Given the description of an element on the screen output the (x, y) to click on. 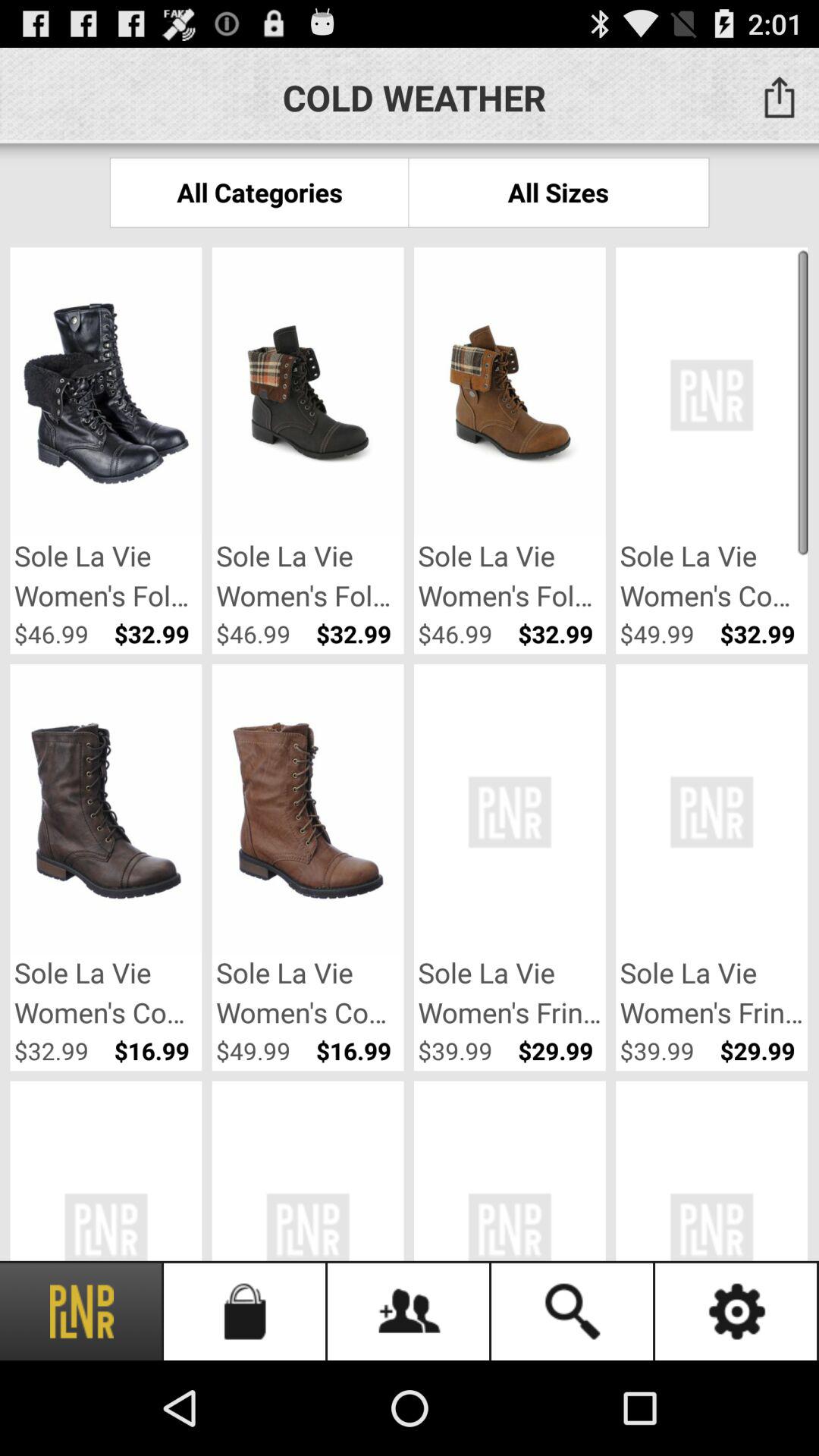
choose the all sizes icon (558, 192)
